Given the description of an element on the screen output the (x, y) to click on. 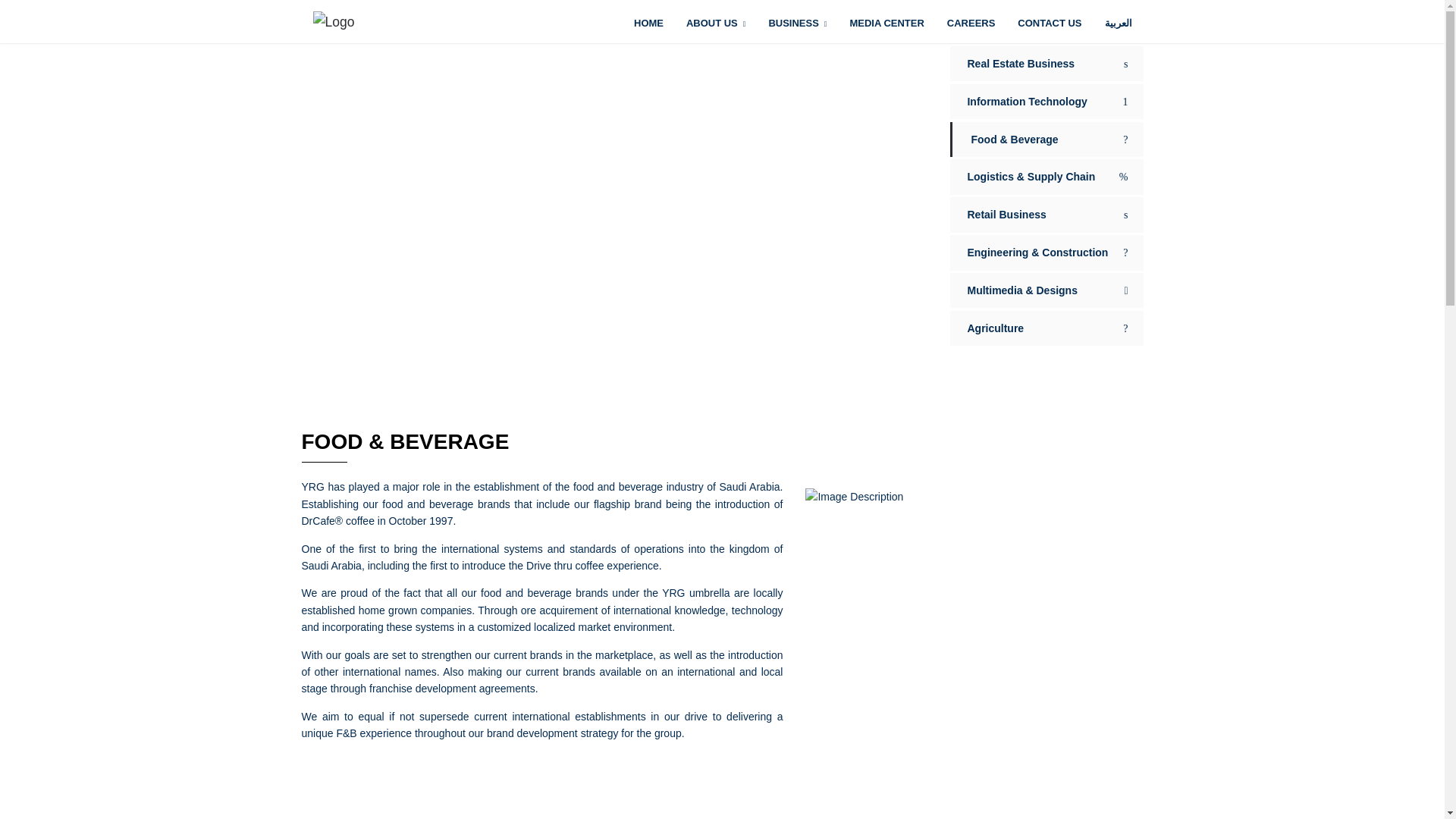
Agriculture (1045, 328)
ABOUT US (715, 23)
CAREERS (971, 23)
MEDIA CENTER (885, 23)
Real Estate Business (1045, 63)
BUSINESS (797, 23)
HOME (648, 23)
CONTACT US (1049, 23)
Retail Business (1045, 214)
Information Technology (1045, 101)
